Given the description of an element on the screen output the (x, y) to click on. 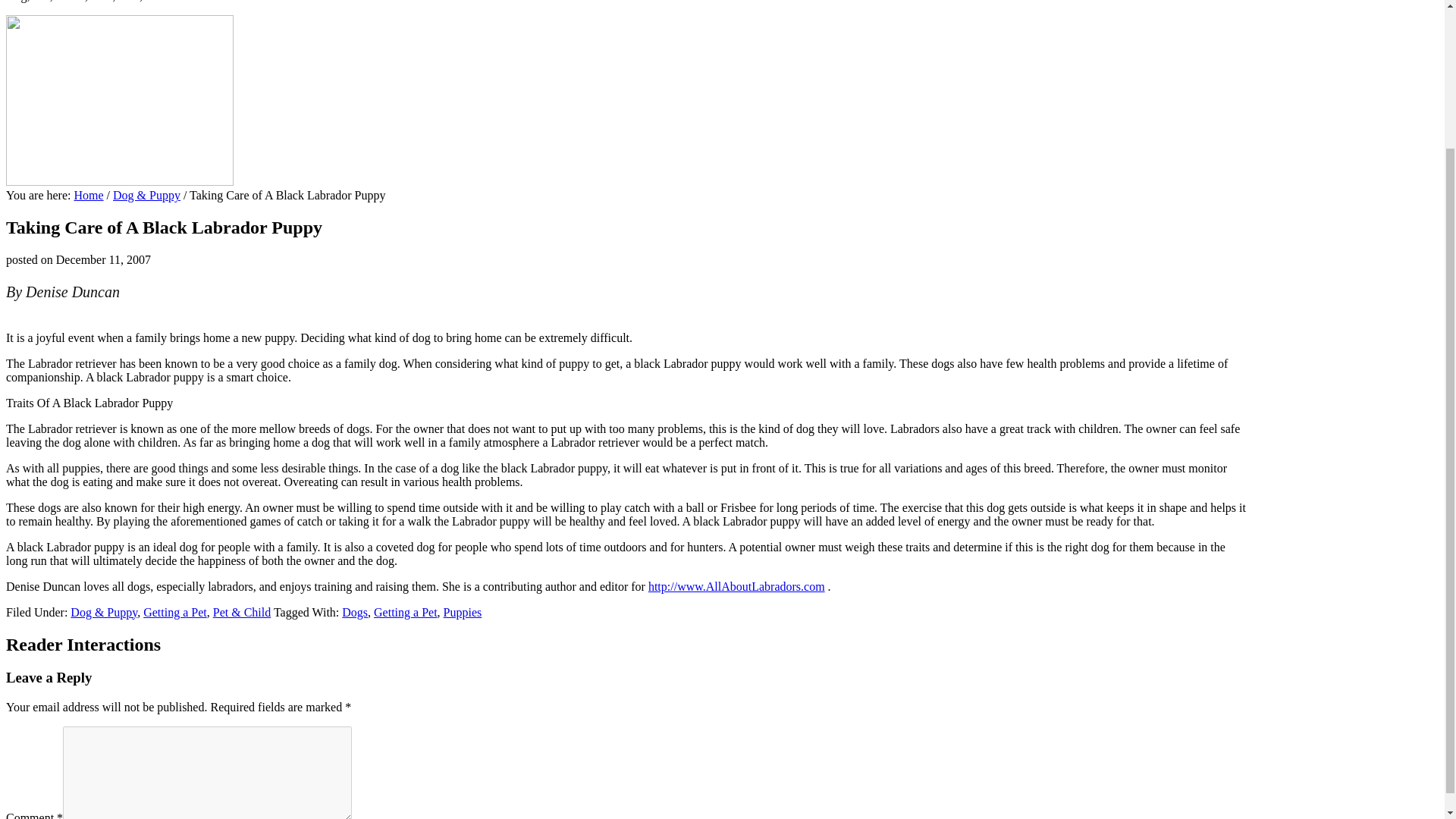
Dogs (355, 612)
Getting a Pet (174, 612)
Puppies (462, 612)
Getting a Pet (406, 612)
Home (88, 195)
